Given the description of an element on the screen output the (x, y) to click on. 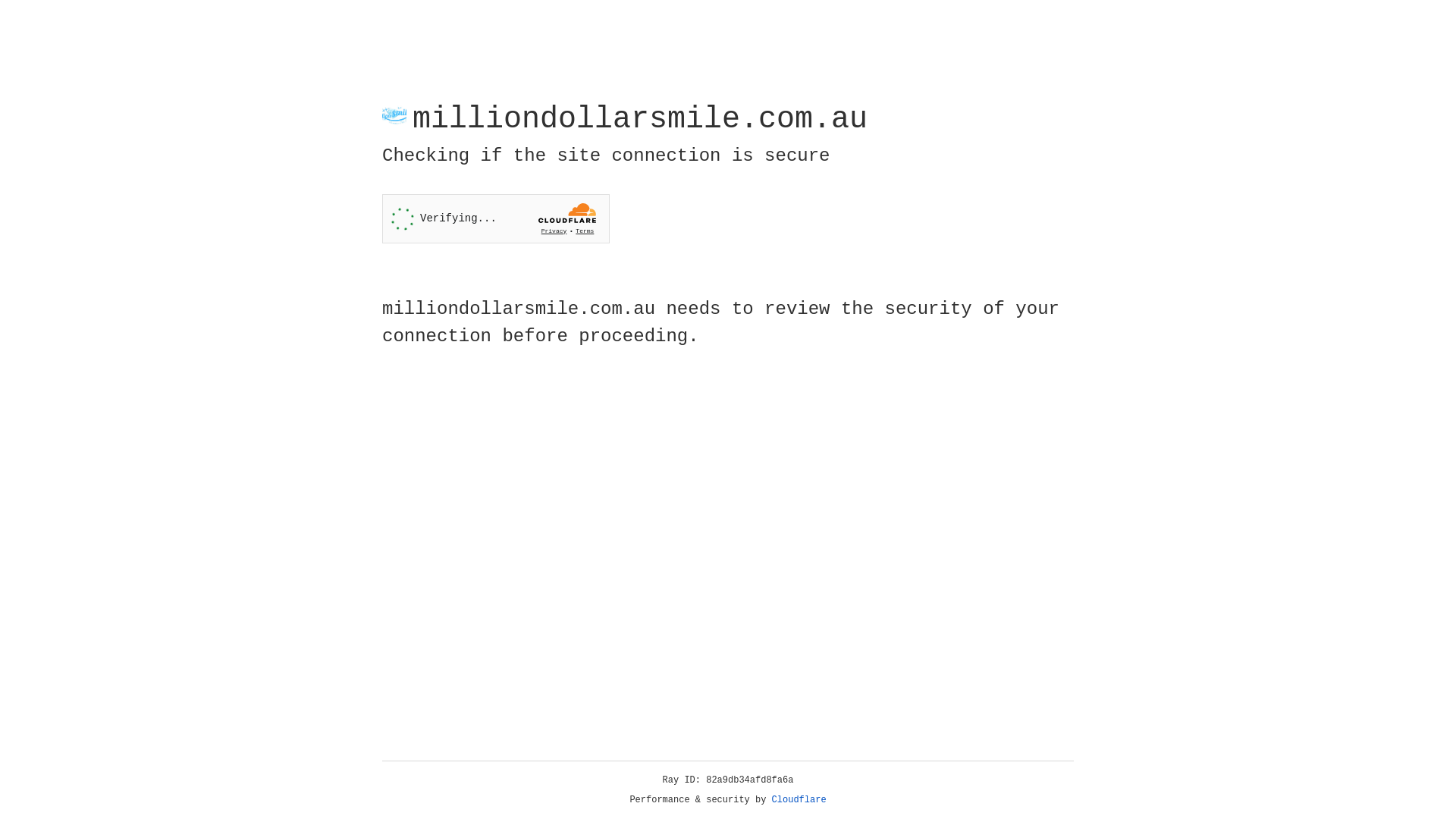
Widget containing a Cloudflare security challenge Element type: hover (495, 218)
Cloudflare Element type: text (798, 799)
